Given the description of an element on the screen output the (x, y) to click on. 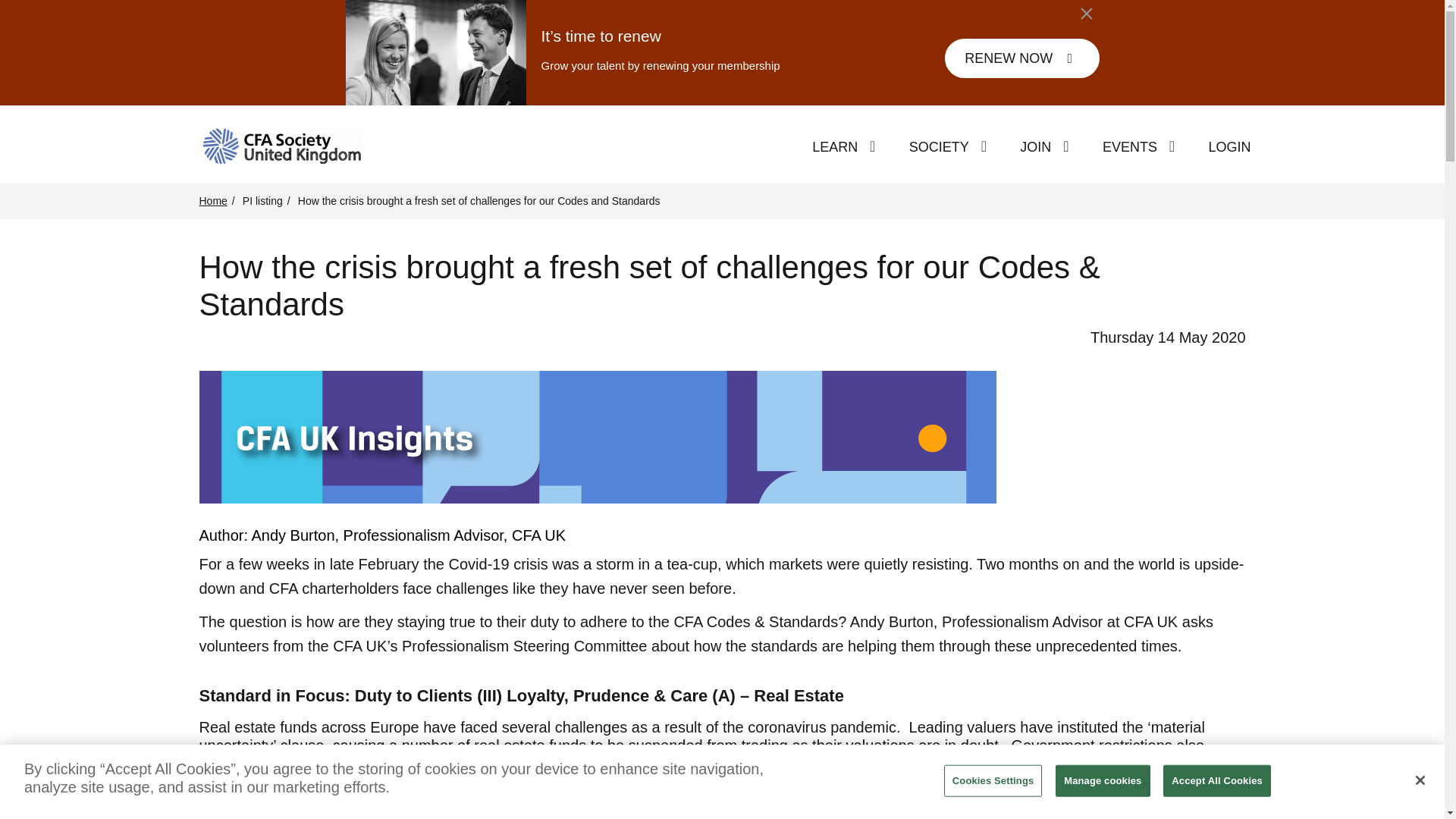
RENEW NOW (1021, 57)
LEARN (834, 146)
RENEW NOW (1021, 57)
SOCIETY (938, 146)
